Given the description of an element on the screen output the (x, y) to click on. 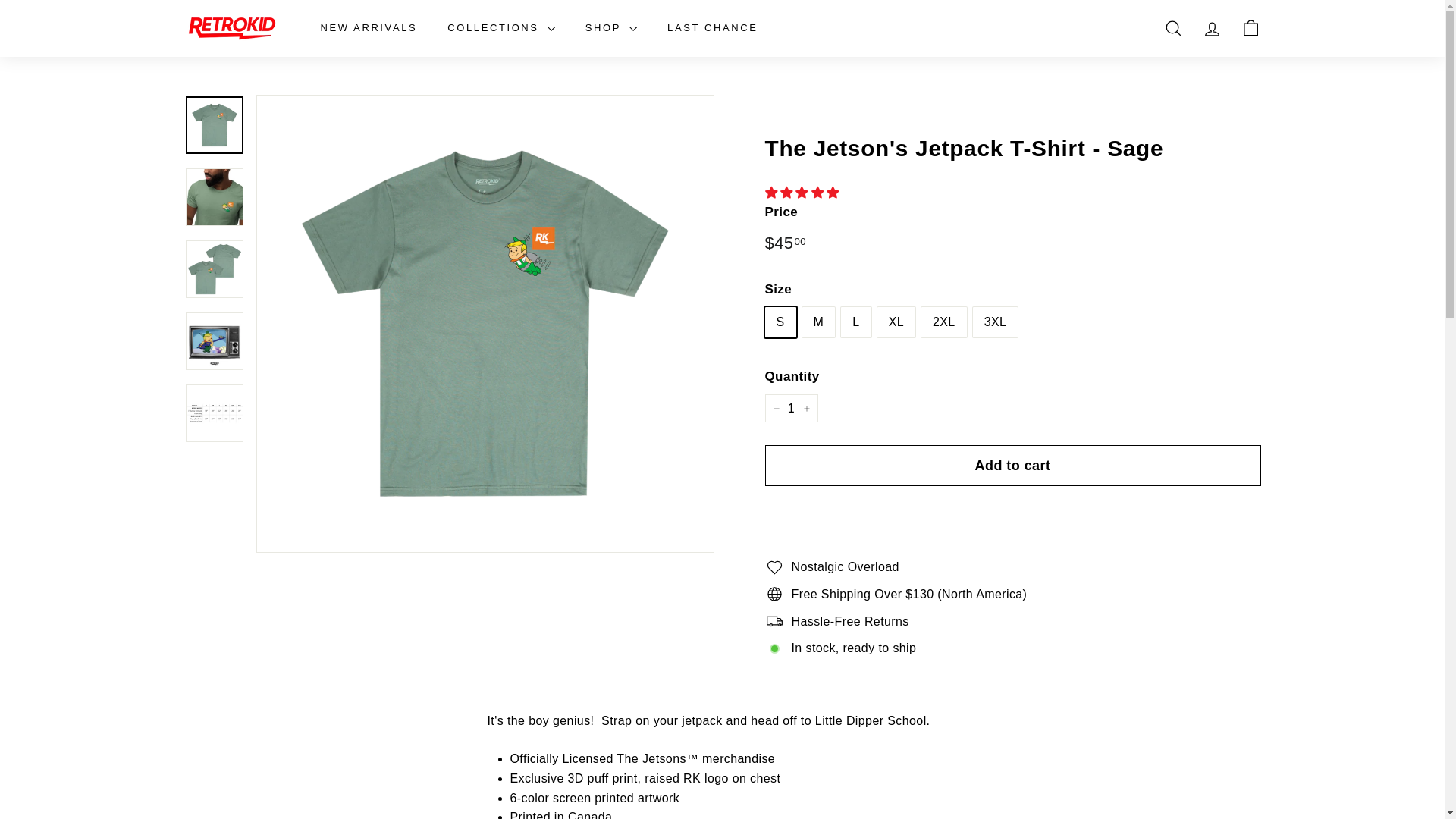
NEW ARRIVALS (368, 28)
LAST CHANCE (712, 28)
1 (790, 408)
